Given the description of an element on the screen output the (x, y) to click on. 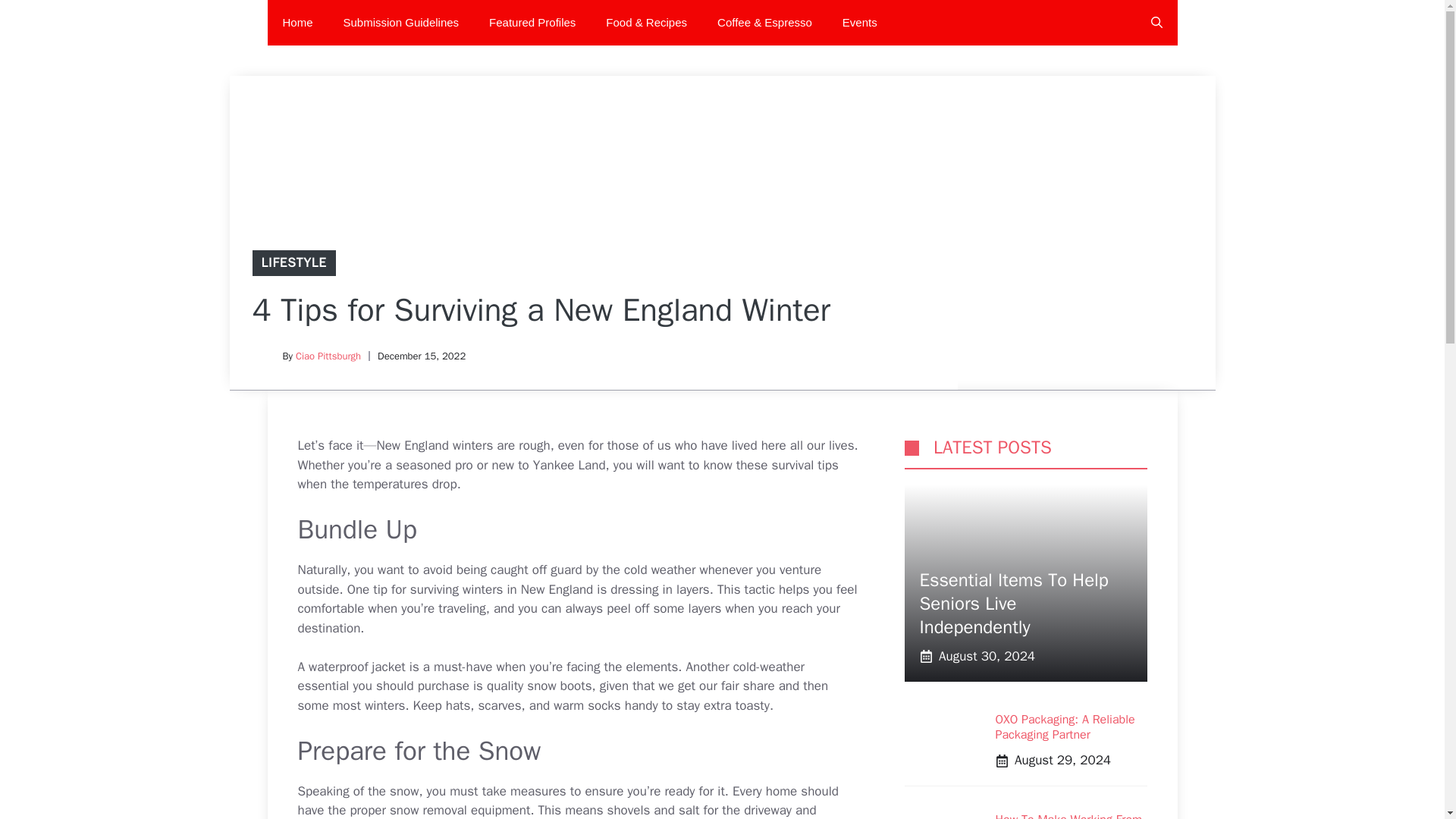
How To Make Working From a Truck Easier and Safer (1067, 815)
SORRY, YOUR BROWSER DOES NOT SUPPORT INLINE SVG. (911, 447)
LIFESTYLE (293, 262)
Home (296, 22)
Essential Items To Help Seniors Live Independently (1013, 603)
Submission Guidelines (401, 22)
Ciao Pittsburgh (328, 355)
OXO Packaging: A Reliable Packaging Partner  (1064, 726)
Events (859, 22)
Featured Profiles (532, 22)
